Given the description of an element on the screen output the (x, y) to click on. 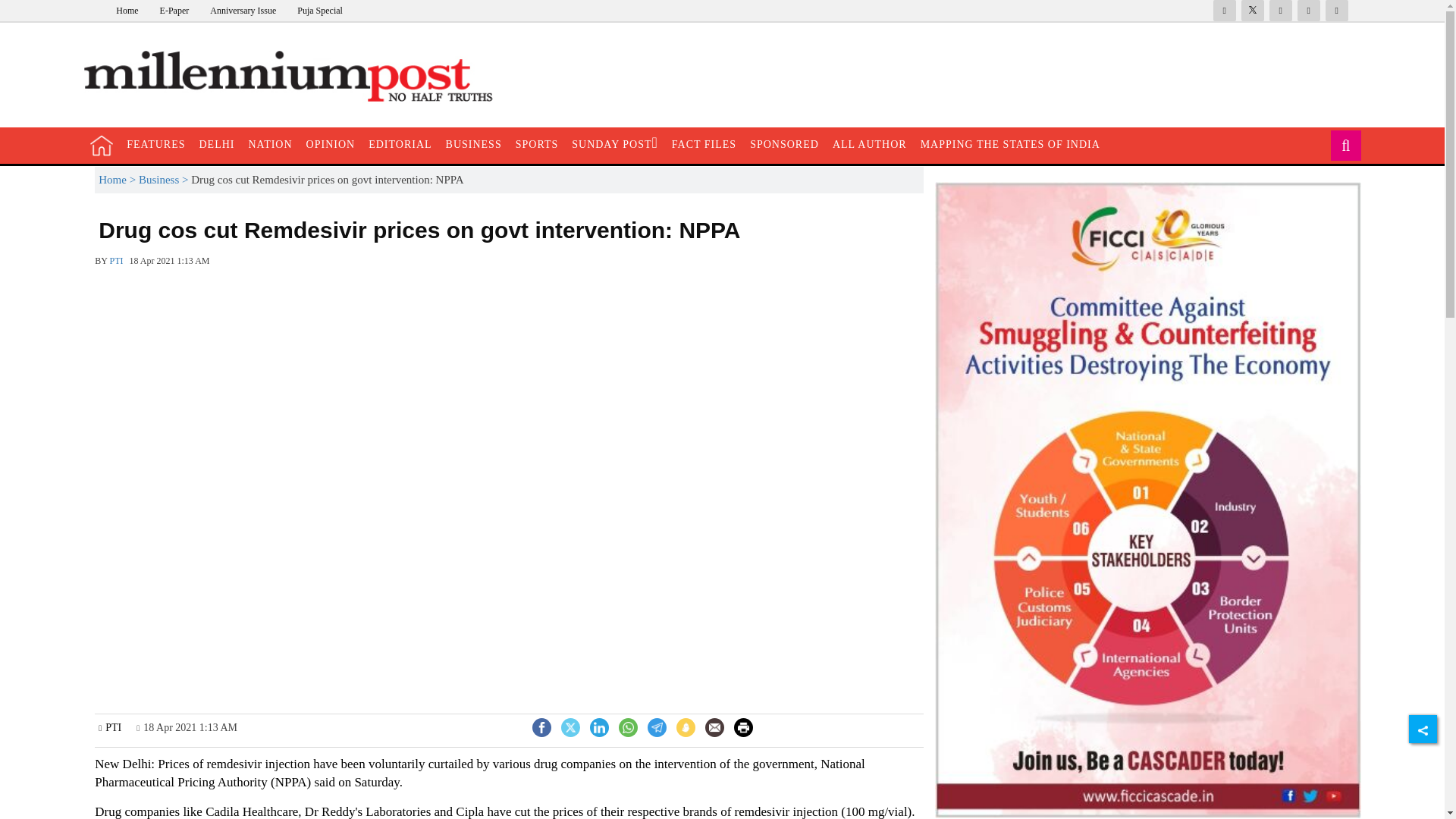
twitter (570, 727)
home (101, 145)
Email (713, 727)
Anniversary Issue (242, 9)
telegram (656, 727)
OPINION (330, 143)
SUNDAY POST (614, 143)
FEATURES (155, 143)
MillenniumPost (295, 76)
DELHI (216, 143)
Twitter (569, 725)
SPONSORED (783, 143)
NATION (269, 143)
LinkedIn (598, 725)
